Given the description of an element on the screen output the (x, y) to click on. 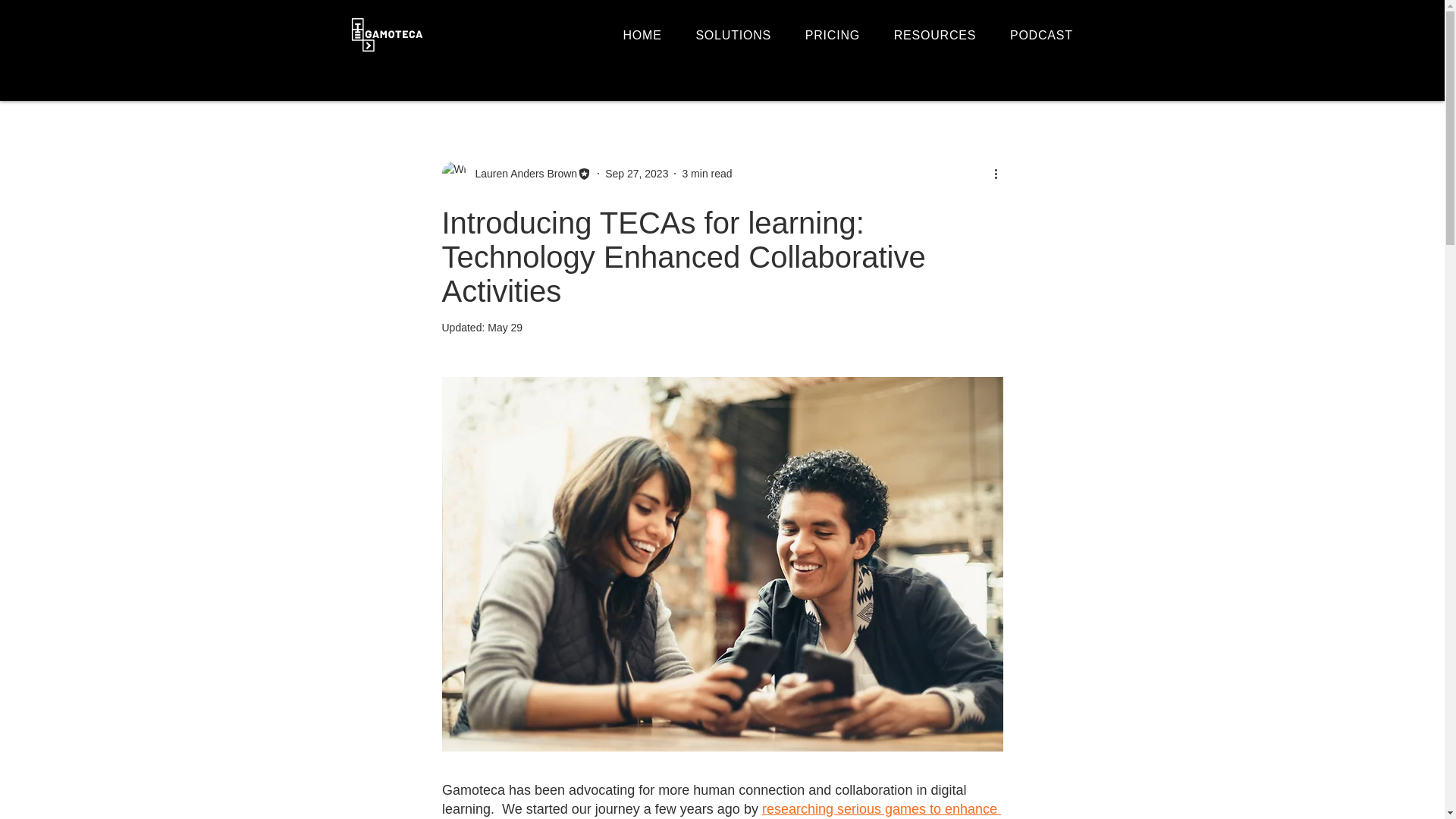
PODCAST (1048, 35)
researching serious games to enhance learning outcomes (720, 810)
PRICING (838, 35)
3 min read (706, 173)
Sep 27, 2023 (636, 173)
HOME (648, 35)
May 29 (504, 327)
Lauren Anders Brown (520, 172)
